Given the description of an element on the screen output the (x, y) to click on. 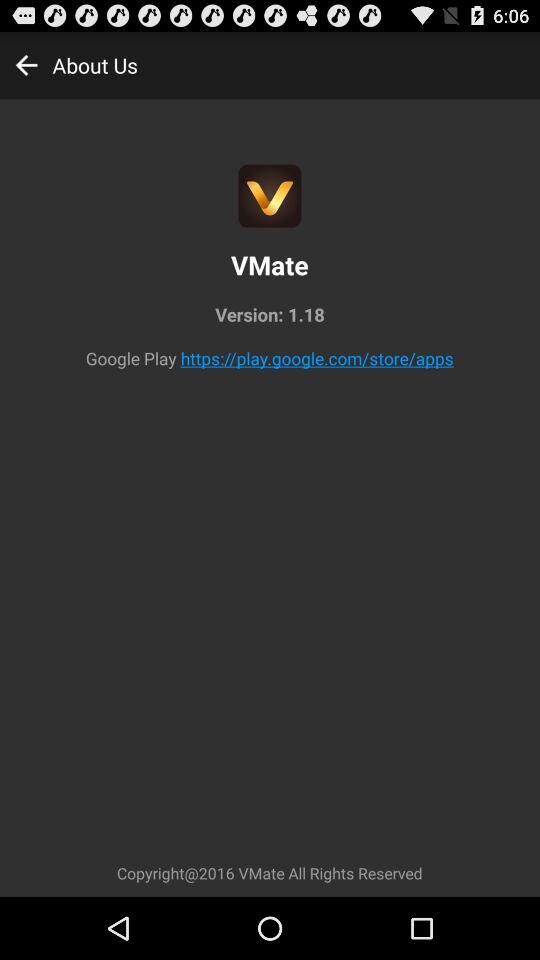
flip until https play google item (316, 357)
